Given the description of an element on the screen output the (x, y) to click on. 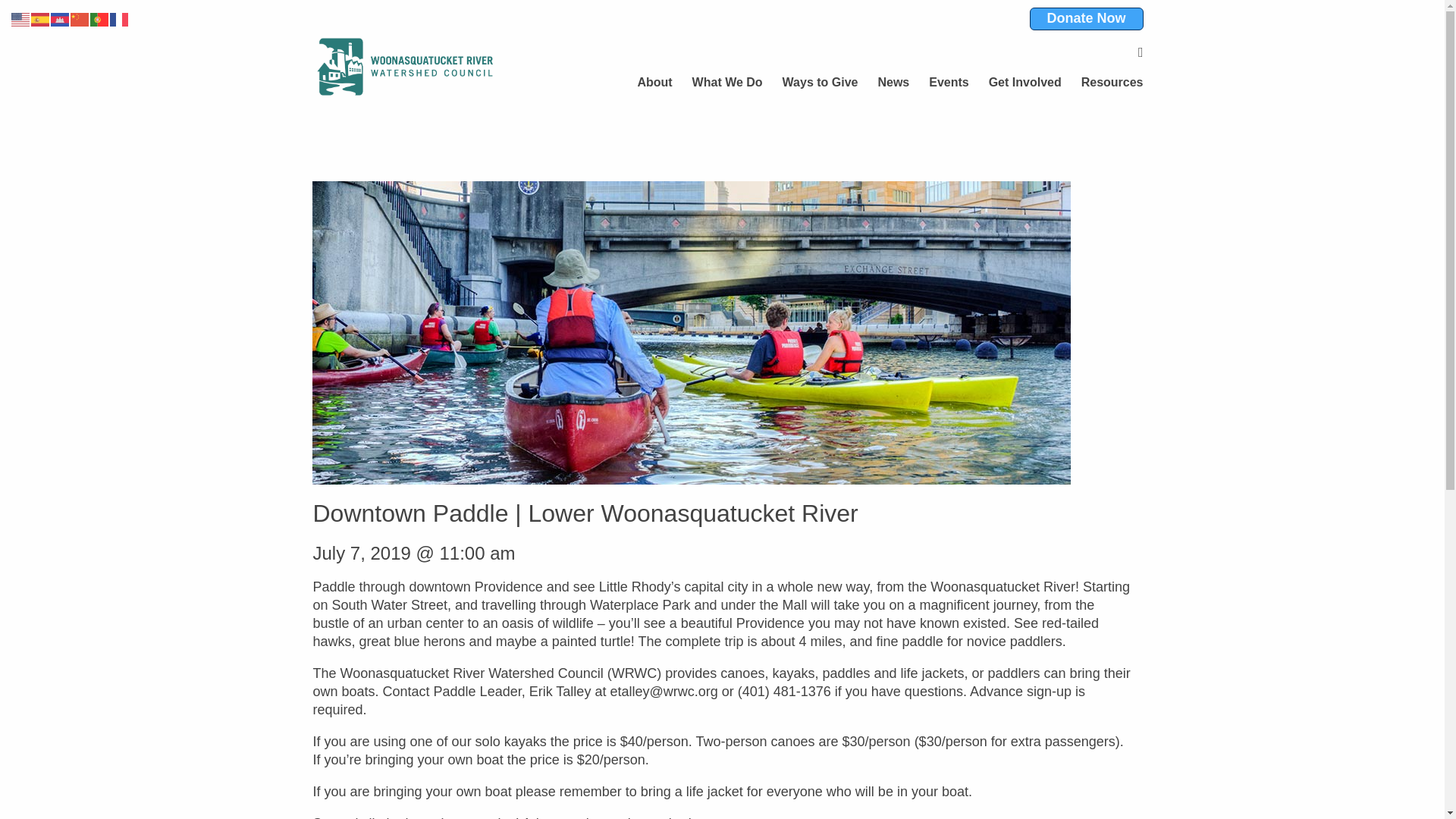
Donate Now (1085, 17)
English (20, 18)
Spanish (40, 18)
Portuguese (100, 18)
French (119, 18)
Khmer (59, 18)
